Given the description of an element on the screen output the (x, y) to click on. 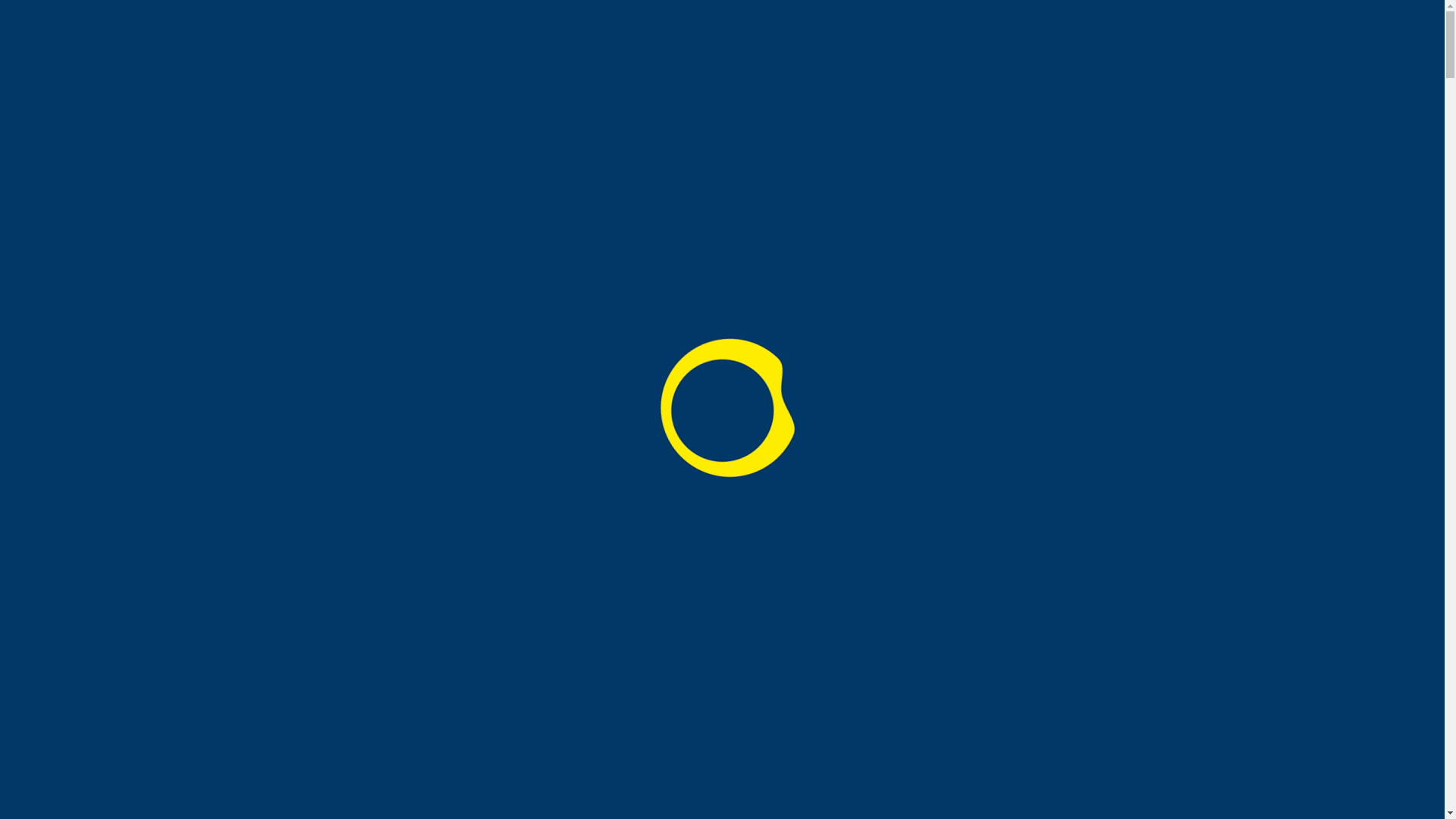
auto-lumiere@bluewin.ch Element type: text (82, 379)
ENTRER Element type: text (44, 265)
Nous trouver Element type: text (105, 265)
